Given the description of an element on the screen output the (x, y) to click on. 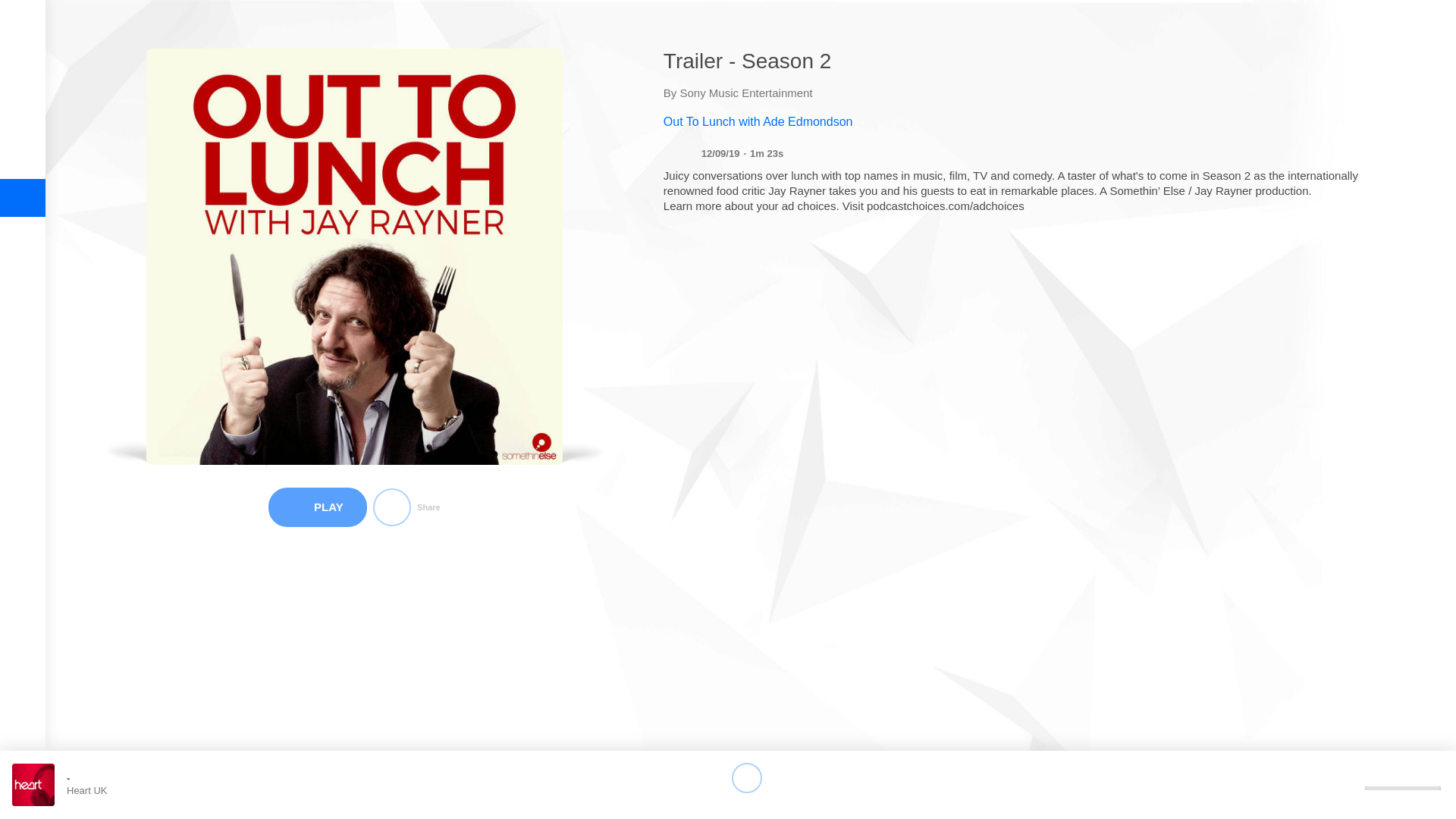
Out To Lunch with Ade Edmondson (1035, 121)
PLAY (316, 507)
Global Player (22, 30)
Share (406, 507)
Global Player (22, 30)
Share (406, 507)
